Given the description of an element on the screen output the (x, y) to click on. 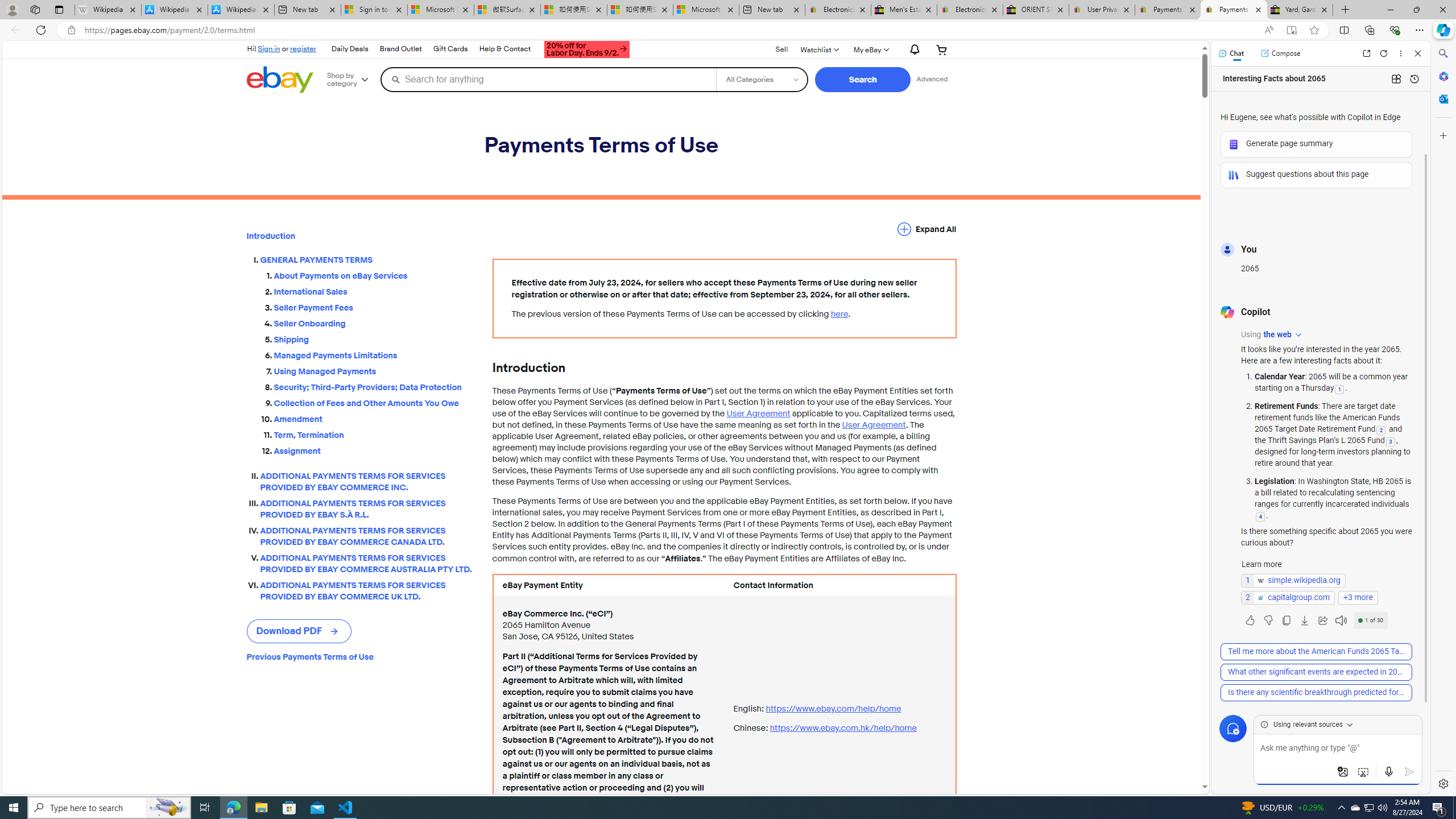
Microsoft Services Agreement (441, 9)
Daily Deals (349, 49)
Help & Contact (504, 49)
Expand Cart (941, 49)
About Payments on eBay Services (373, 273)
Term, Termination (373, 433)
Collection of Fees and Other Amounts You Owe (373, 403)
Get the coupon now (587, 49)
Compose (1280, 52)
Shop by category (351, 79)
